Given the description of an element on the screen output the (x, y) to click on. 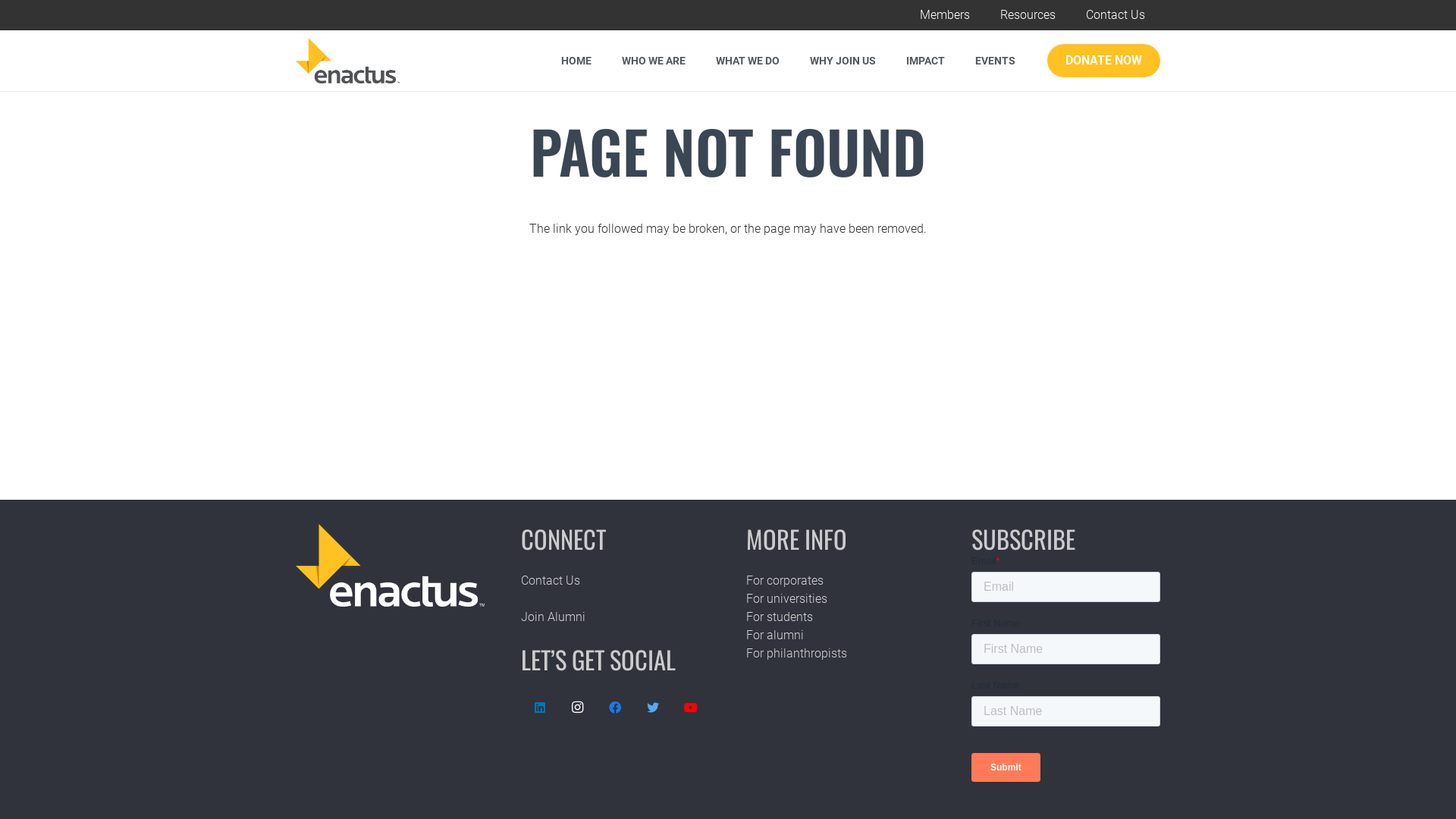
For universities Element type: text (786, 598)
Form 0 Element type: hover (1065, 673)
Contact Us Element type: text (1115, 15)
Resources Element type: text (1027, 15)
WHAT WE DO Element type: text (747, 60)
For philanthropists Element type: text (796, 653)
Twitter Element type: hover (652, 707)
Instagram Element type: hover (577, 707)
Members Element type: text (944, 15)
IMPACT Element type: text (925, 60)
LinkedIn Element type: hover (539, 707)
For alumni Element type: text (774, 634)
WHO WE ARE Element type: text (653, 60)
WHY JOIN US Element type: text (842, 60)
EVENTS Element type: text (995, 60)
Facebook Element type: hover (615, 707)
For corporates Element type: text (784, 580)
YouTube Element type: hover (690, 707)
Contact Us Element type: text (550, 580)
For students Element type: text (779, 616)
Join Alumni Element type: text (552, 616)
HOME Element type: text (576, 60)
DONATE NOW Element type: text (1103, 60)
